Given the description of an element on the screen output the (x, y) to click on. 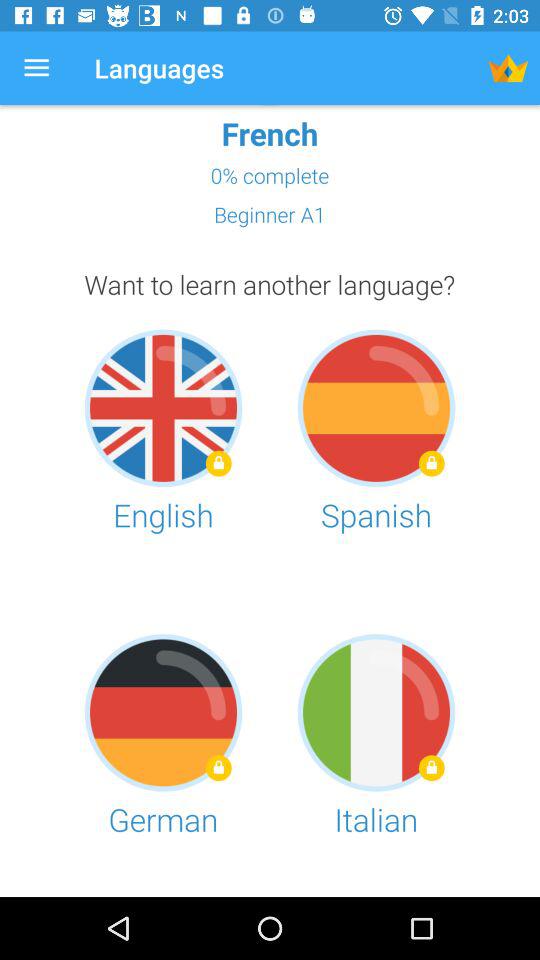
tap the app to the right of the languages app (508, 67)
